Given the description of an element on the screen output the (x, y) to click on. 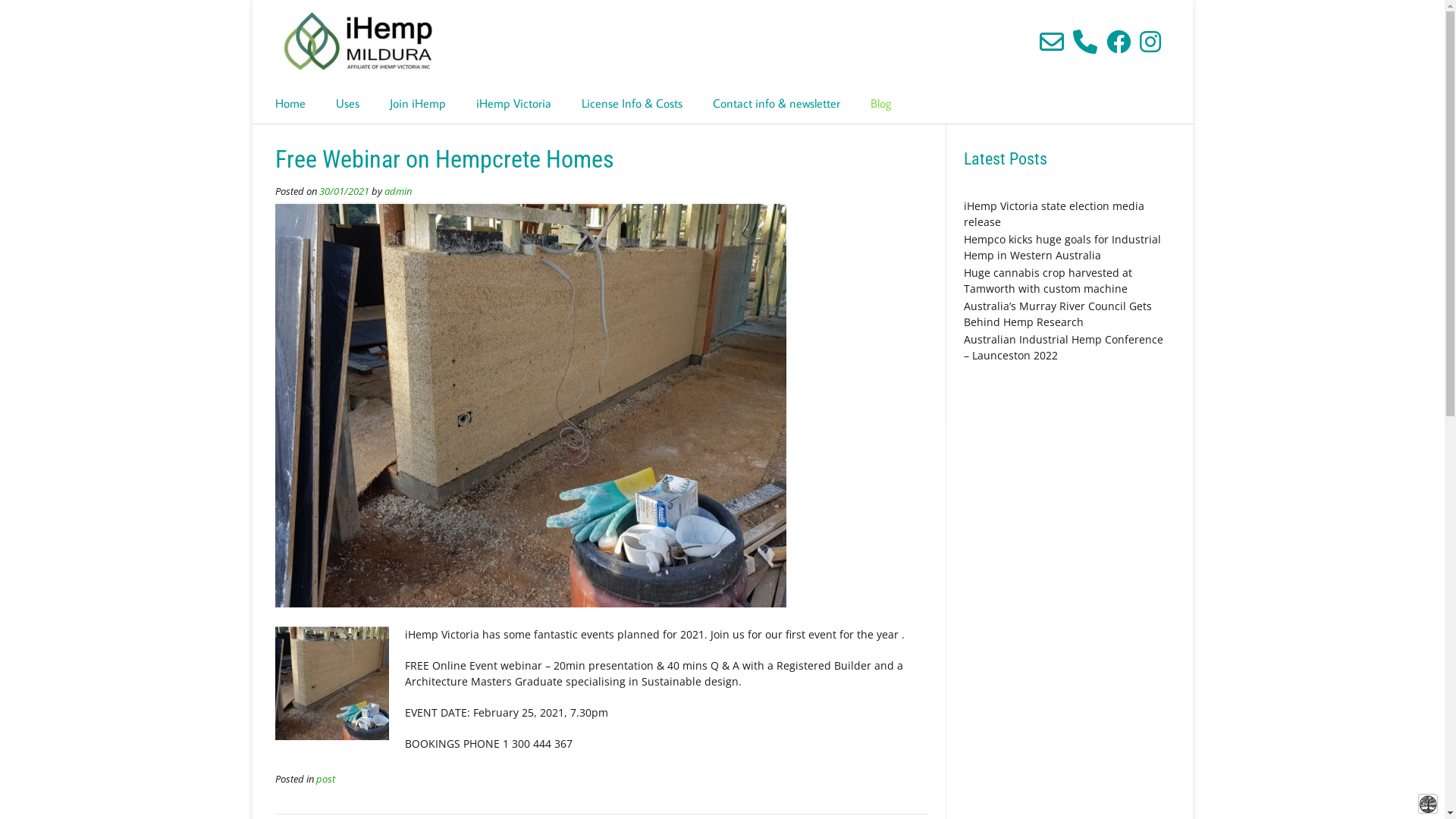
i hemp mildura Element type: hover (352, 41)
post Element type: text (324, 778)
Site built by DP Web Design Element type: hover (1427, 803)
Huge cannabis crop harvested at Tamworth with custom machine Element type: text (1047, 280)
Contact info & newsletter Element type: text (776, 103)
License Info & Costs Element type: text (630, 103)
30/01/2021 Element type: text (343, 191)
Call Us Element type: hover (1084, 41)
iHemp Victoria state election media release Element type: text (1053, 213)
Blog Element type: text (880, 103)
Send Us an Email Element type: hover (1050, 41)
Join iHemp Element type: text (417, 103)
admin Element type: text (397, 191)
iHemp Victoria Element type: text (513, 103)
Follow Us on Instagram Element type: hover (1149, 41)
Home Element type: text (289, 103)
Find Us on Facebook Element type: hover (1117, 41)
Uses Element type: text (346, 103)
